Given the description of an element on the screen output the (x, y) to click on. 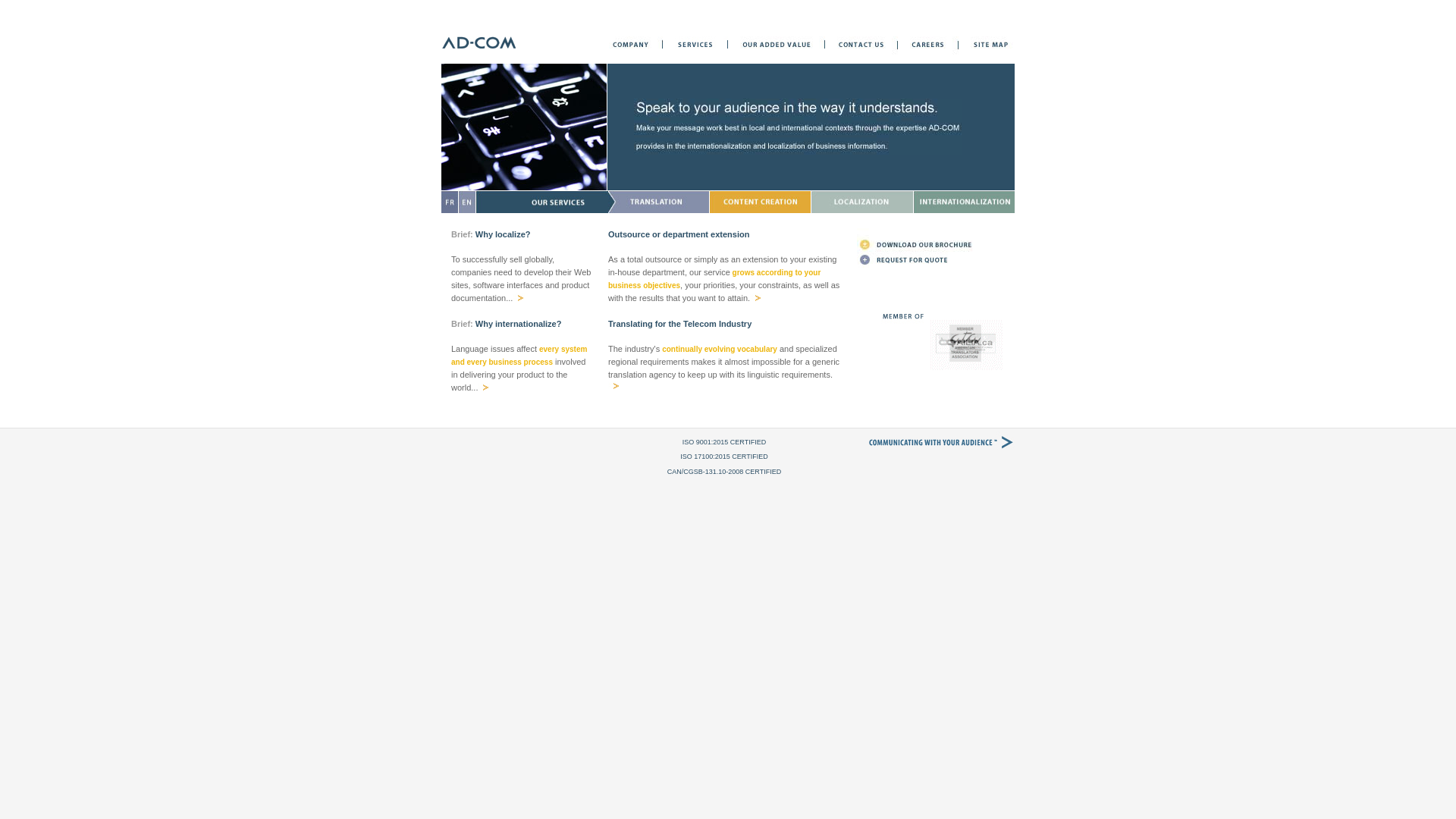
CAN/CGSB-131.10-2008 CERTIFIED Element type: text (724, 471)
ISO 9001:2015 CERTIFIED Element type: text (723, 441)
ISO 17100:2015 CERTIFIED Element type: text (723, 456)
